Given the description of an element on the screen output the (x, y) to click on. 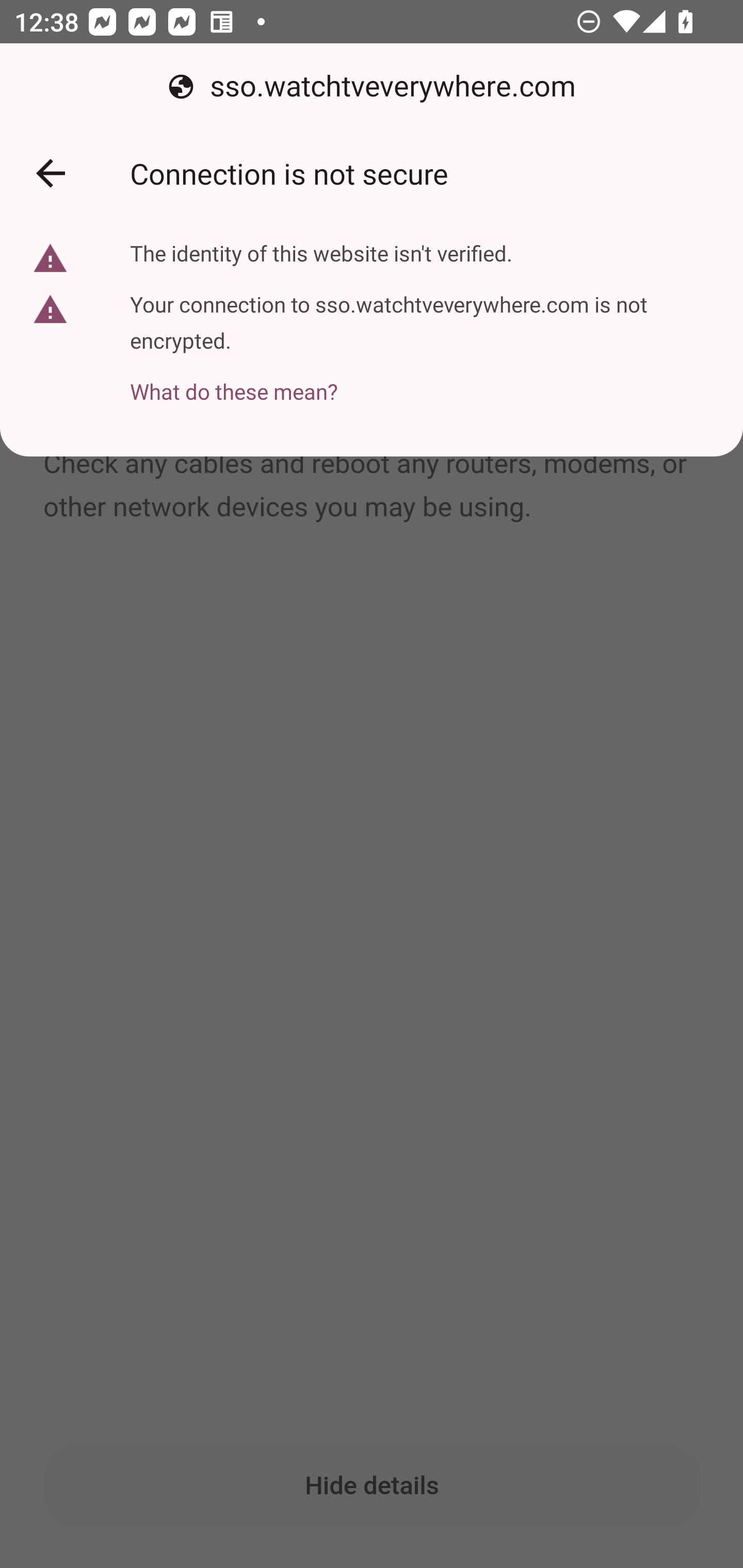
sso.watchtveverywhere.com (371, 86)
Back (50, 173)
What do these mean? (422, 380)
